Given the description of an element on the screen output the (x, y) to click on. 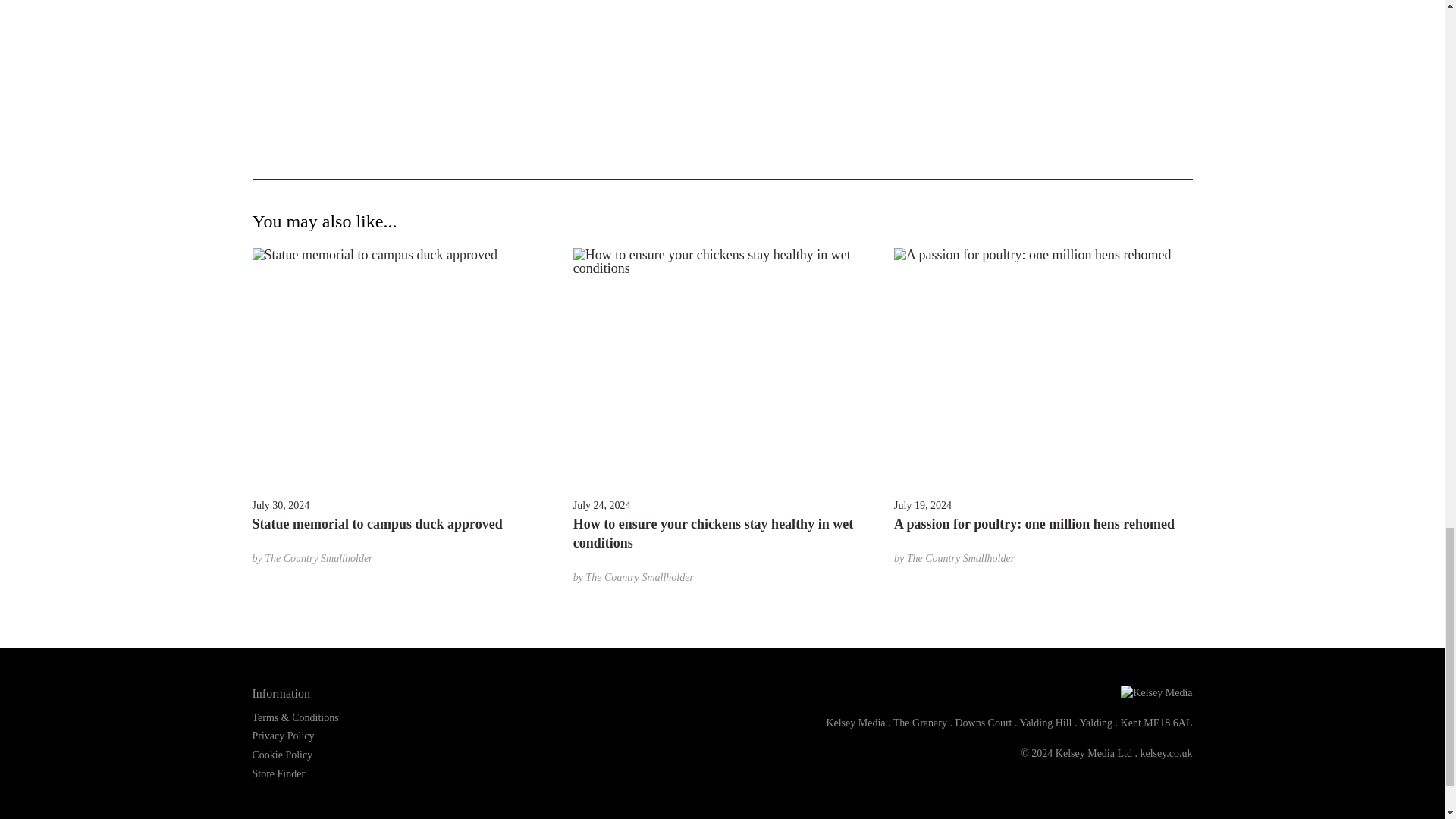
Store Finder (277, 773)
Cookie Policy (282, 754)
Privacy Policy (282, 736)
kelsey.co.uk (1166, 753)
